Given the description of an element on the screen output the (x, y) to click on. 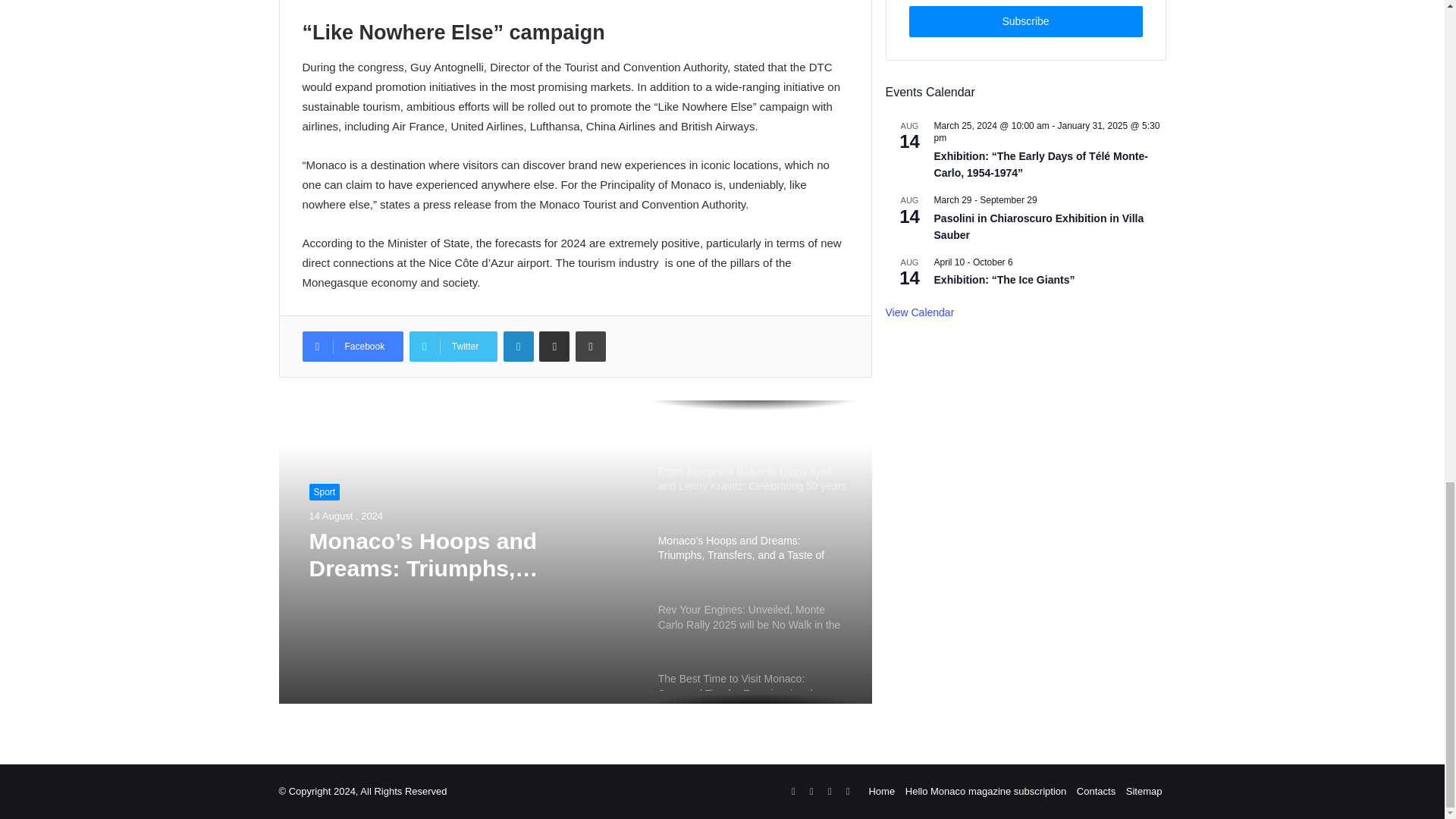
View more events. (920, 312)
Facebook (352, 346)
Twitter (453, 346)
Share via Email (553, 346)
LinkedIn (518, 346)
Subscribe (1025, 20)
Pasolini in Chiaroscuro Exhibition in Villa Sauber (1039, 227)
Print (590, 346)
